Given the description of an element on the screen output the (x, y) to click on. 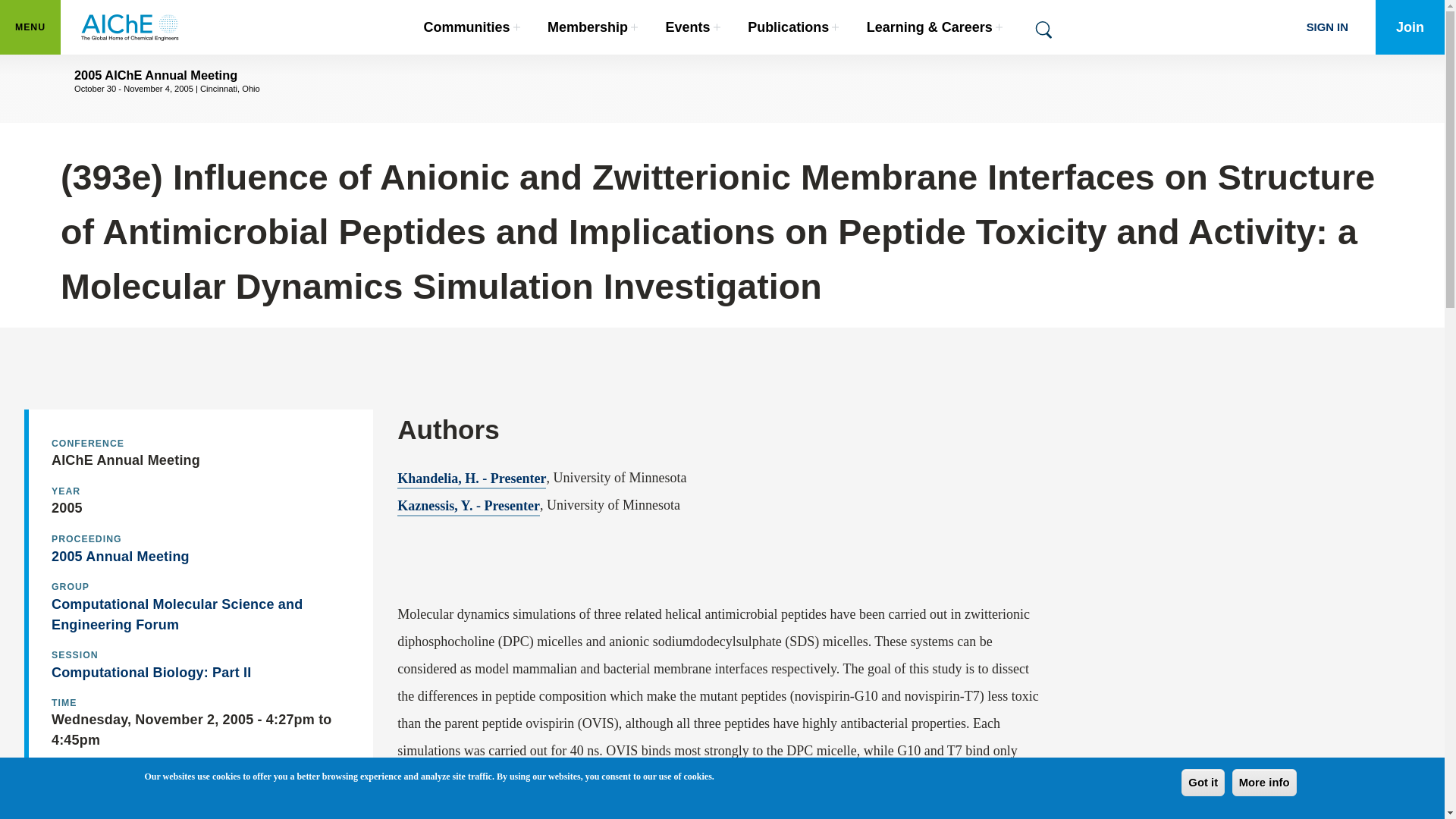
Go to AIChE Home (130, 27)
Skip to main content (30, 27)
More info (1202, 782)
